Given the description of an element on the screen output the (x, y) to click on. 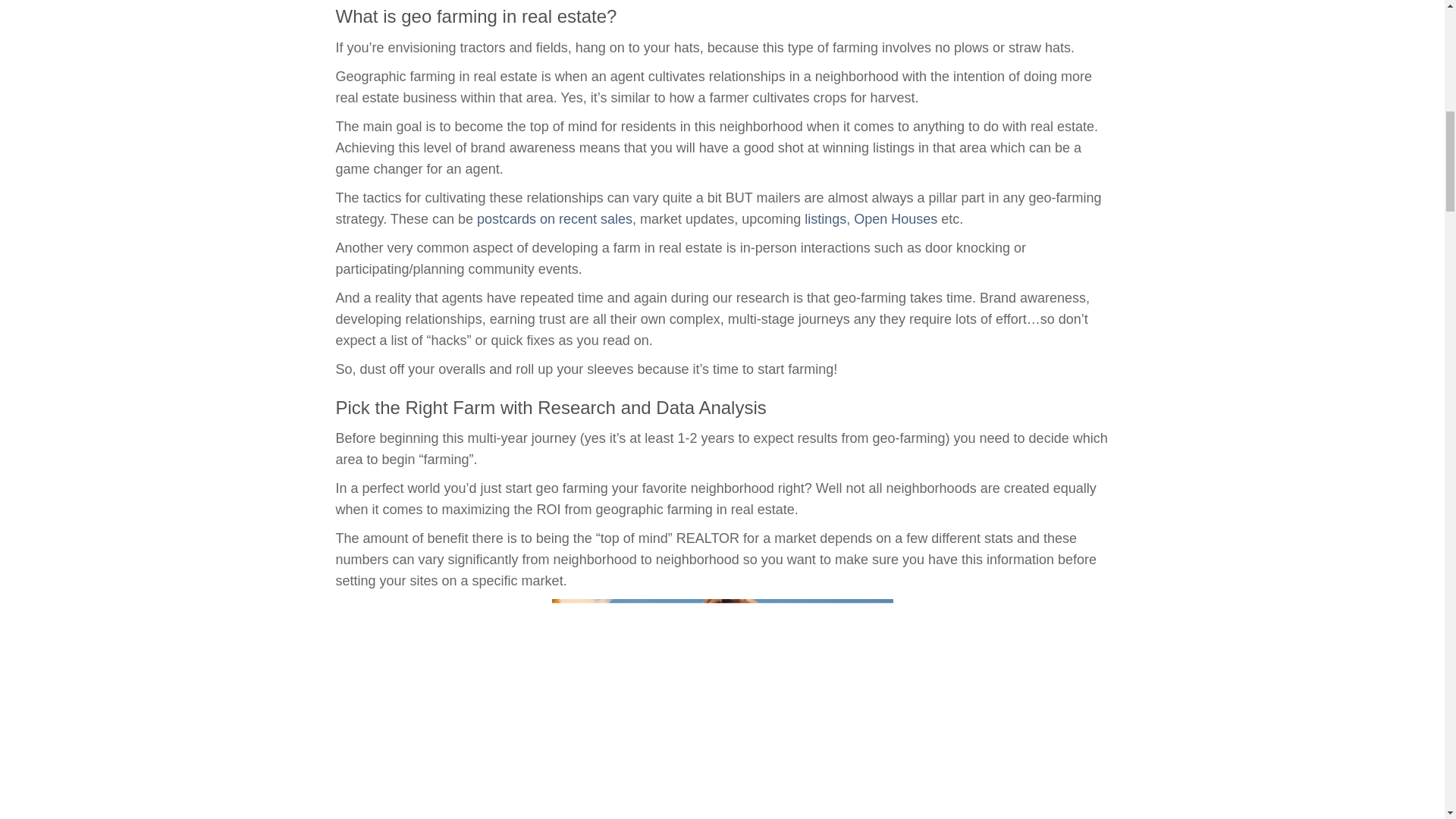
postcards on recent sales (554, 218)
listings (825, 218)
